Given the description of an element on the screen output the (x, y) to click on. 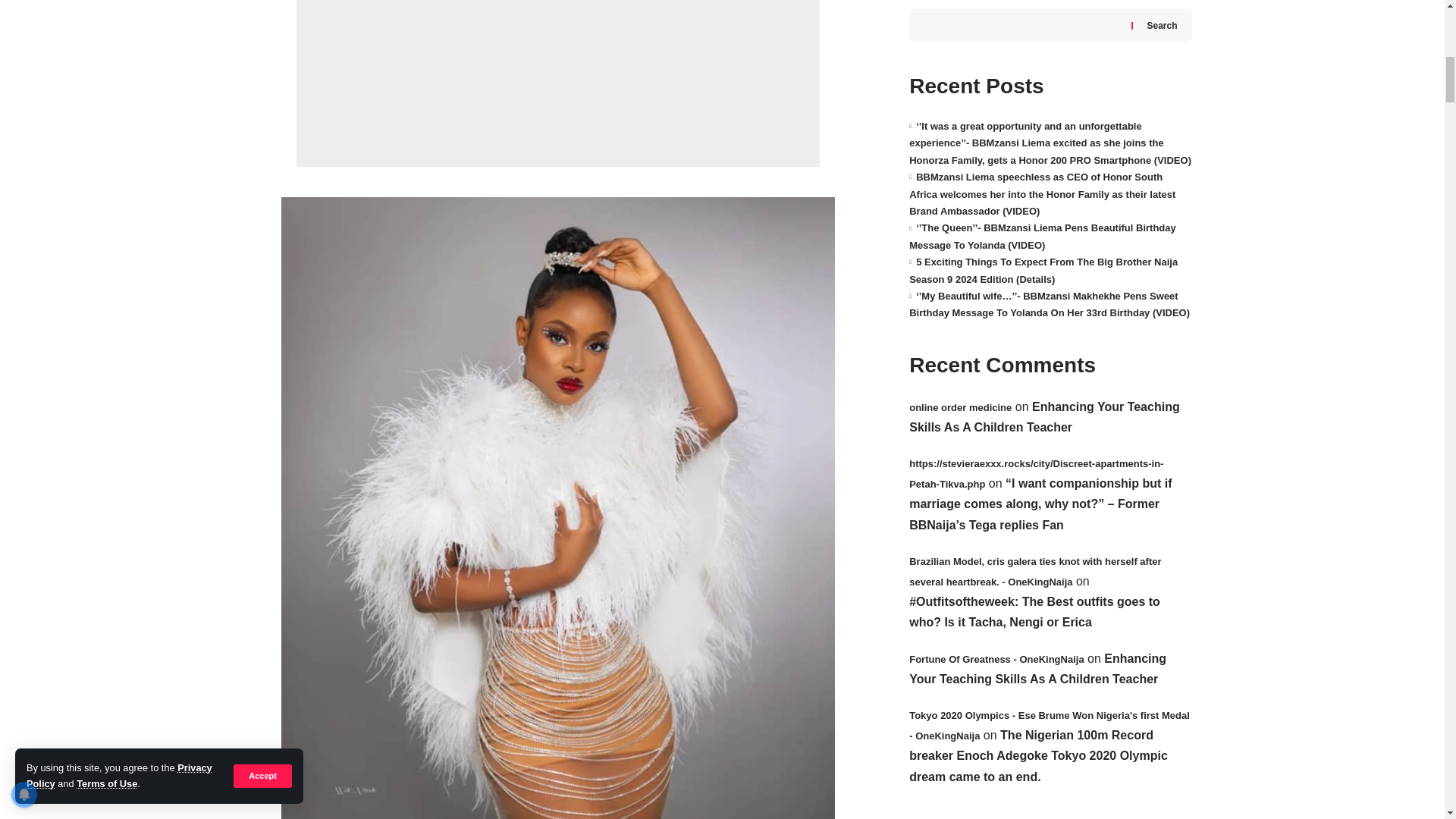
Advertisement (558, 83)
